Given the description of an element on the screen output the (x, y) to click on. 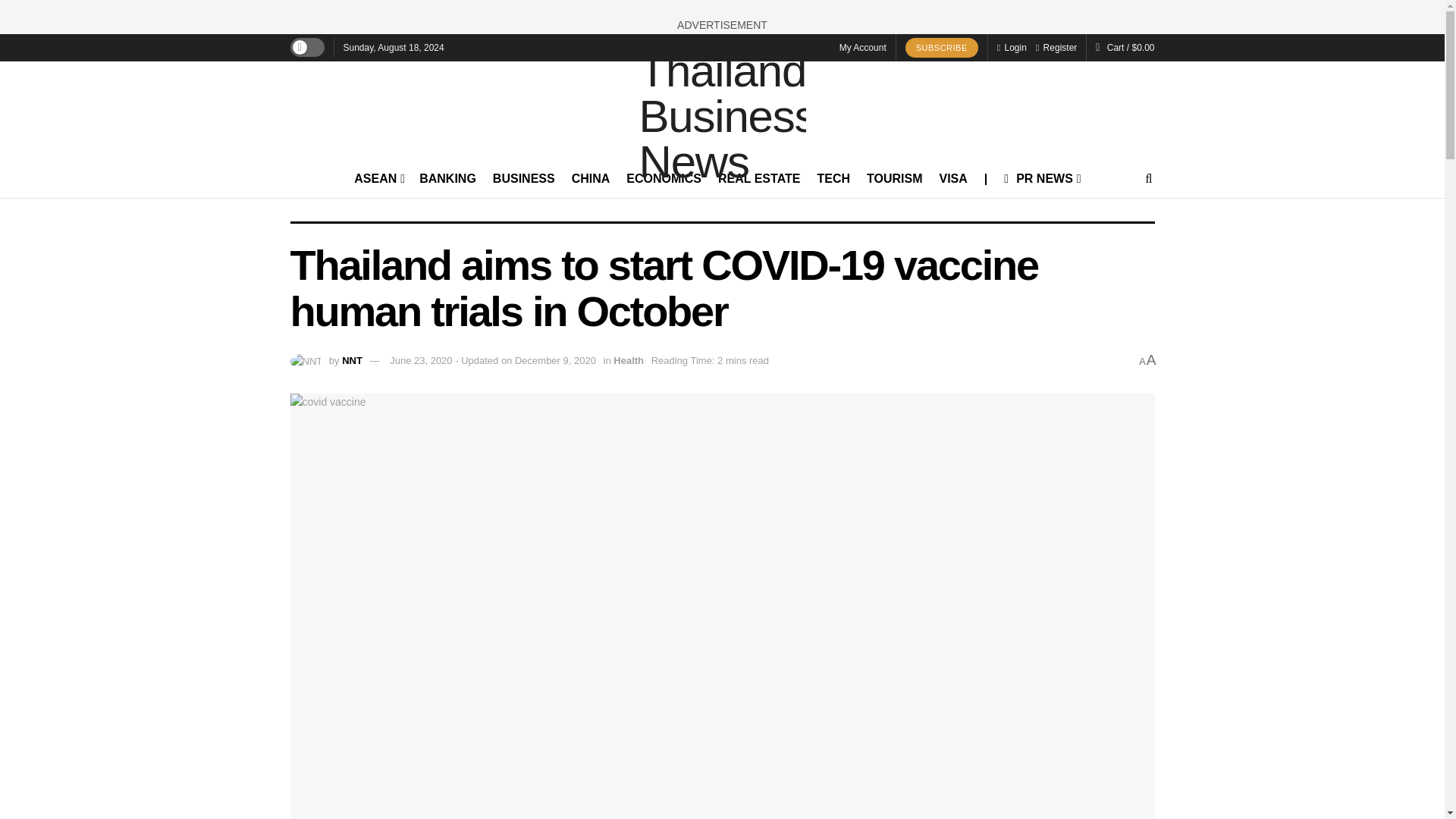
CHINA (591, 178)
My Account (863, 47)
TOURISM (893, 178)
Register (1056, 47)
Login (1011, 47)
View your shopping cart (1130, 47)
TECH (833, 178)
PR NEWS (1041, 178)
ECONOMICS (663, 178)
BUSINESS (523, 178)
